Given the description of an element on the screen output the (x, y) to click on. 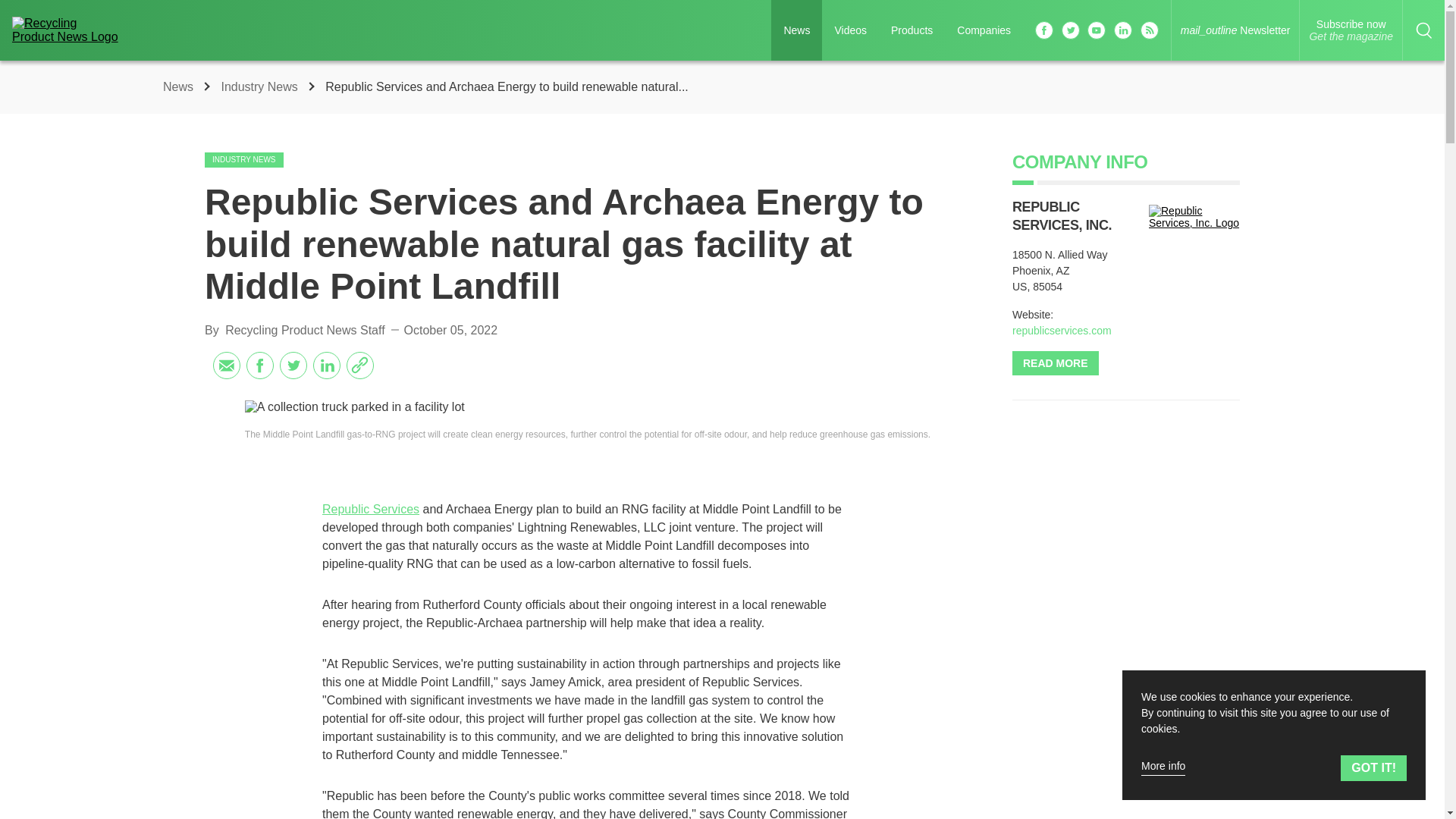
republicservices.com (1061, 330)
Products (911, 30)
Republic Services (370, 508)
Industry News (1351, 30)
INDUSTRY NEWS (261, 86)
A collection truck parked in a facility lot (244, 159)
News (587, 407)
Republic Services, Inc. (179, 86)
Videos (1194, 216)
